Given the description of an element on the screen output the (x, y) to click on. 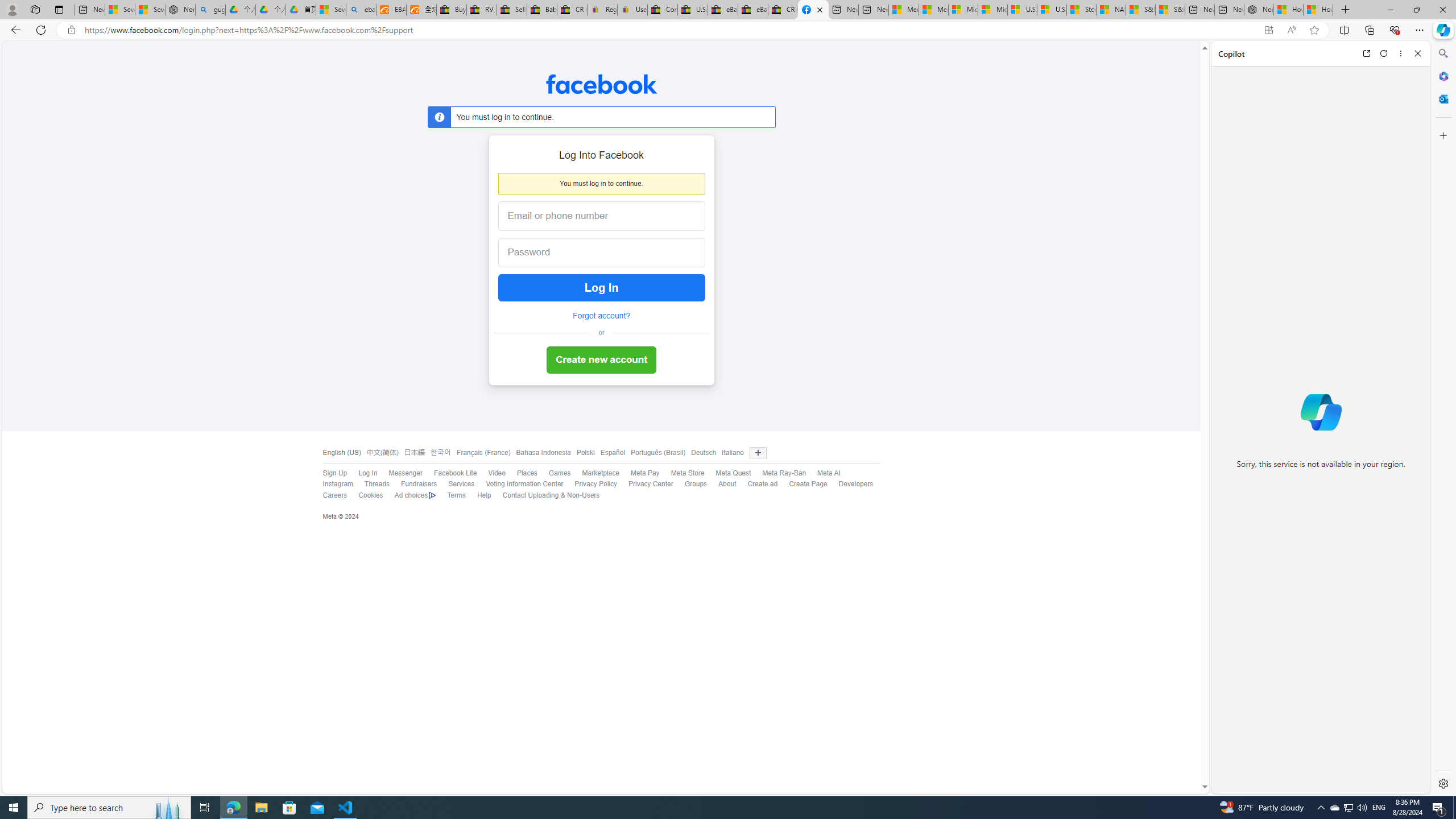
Meta Ray-Ban (783, 473)
Side bar (1443, 418)
Services (461, 483)
Voting Information Center (518, 484)
Create ad (761, 483)
Log into Facebook (812, 9)
Settings (1442, 783)
App available. Install Facebook (1268, 29)
